Given the description of an element on the screen output the (x, y) to click on. 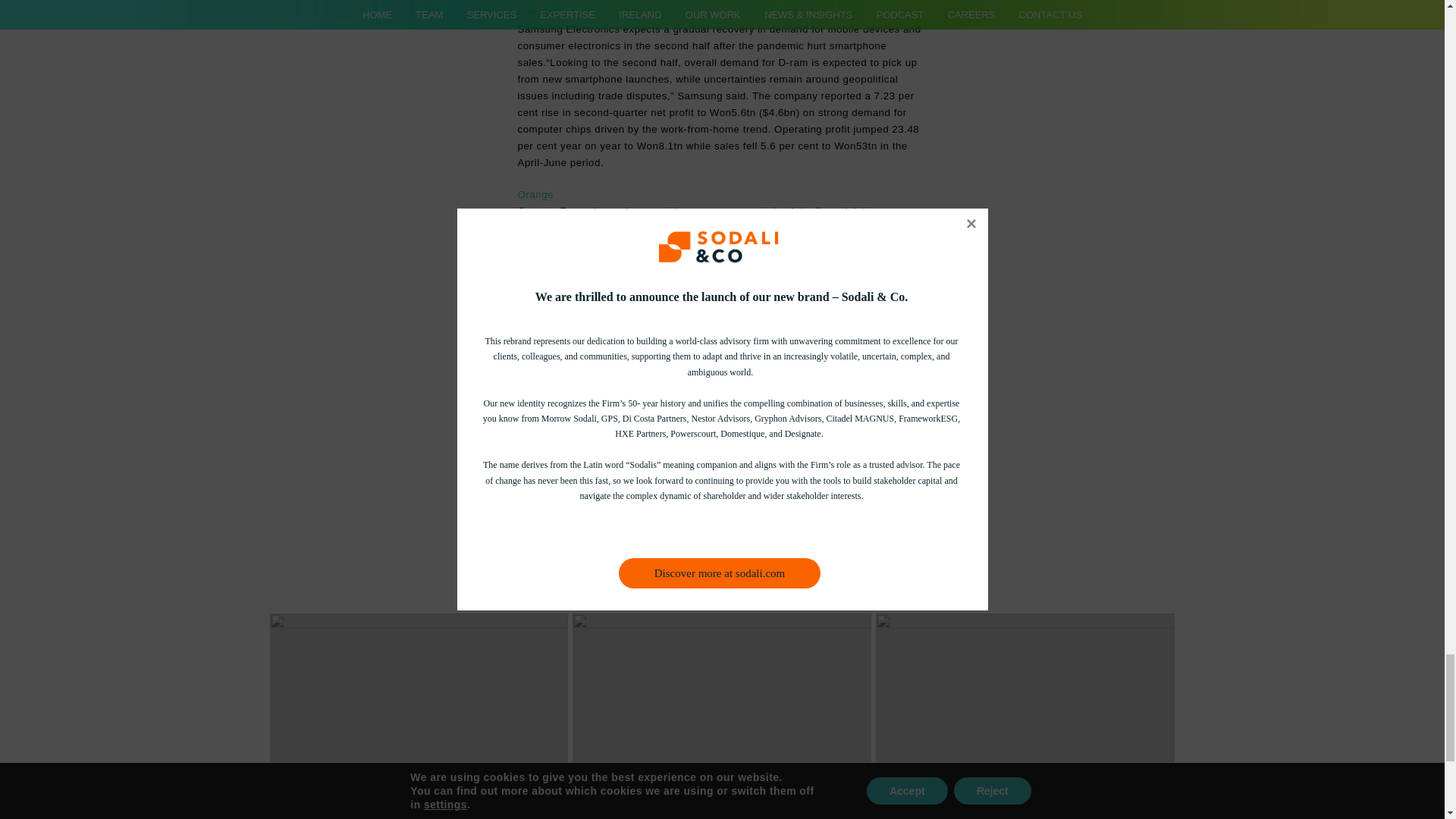
BBC (856, 458)
Financial Times (861, 426)
Reuters (536, 506)
